Given the description of an element on the screen output the (x, y) to click on. 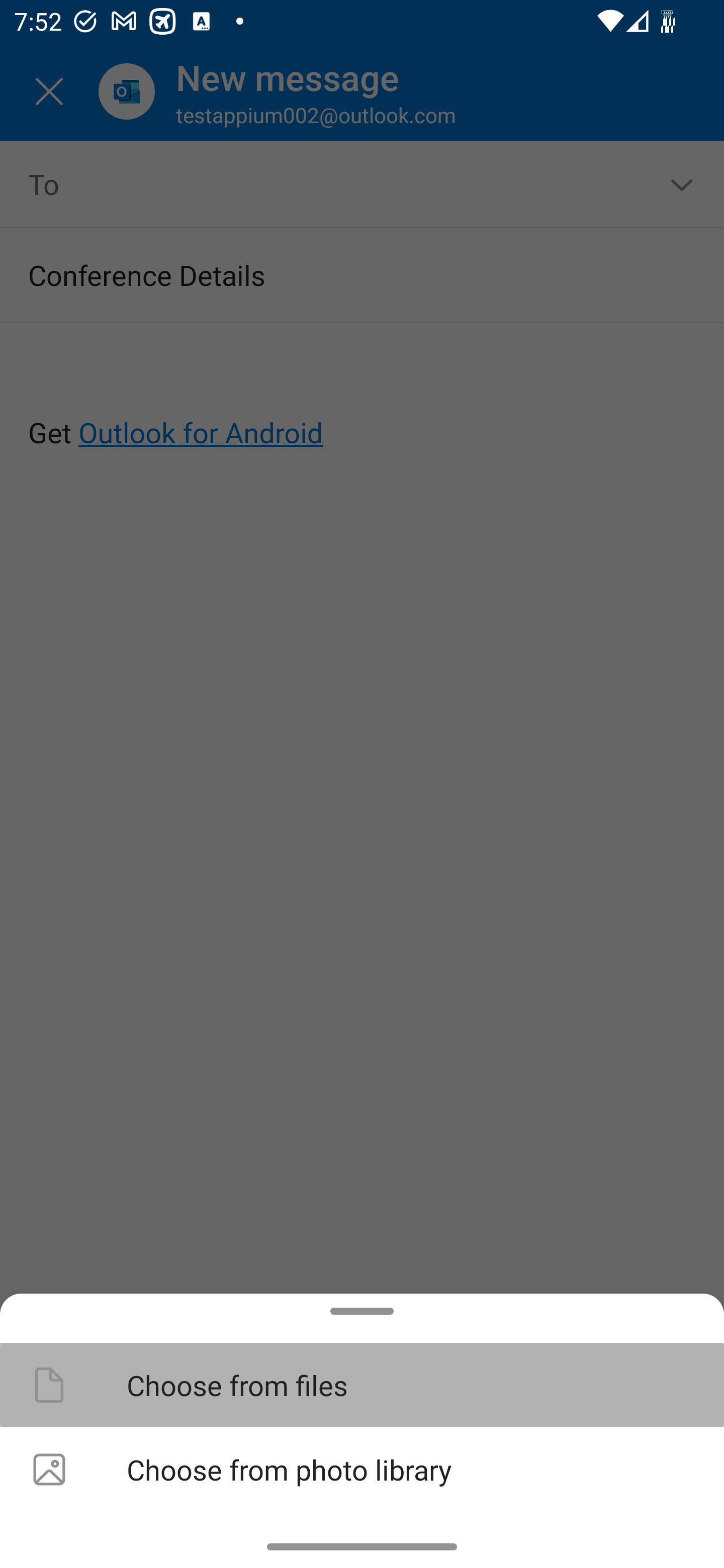
Choose from files (362, 1384)
Choose from photo library (362, 1468)
